Given the description of an element on the screen output the (x, y) to click on. 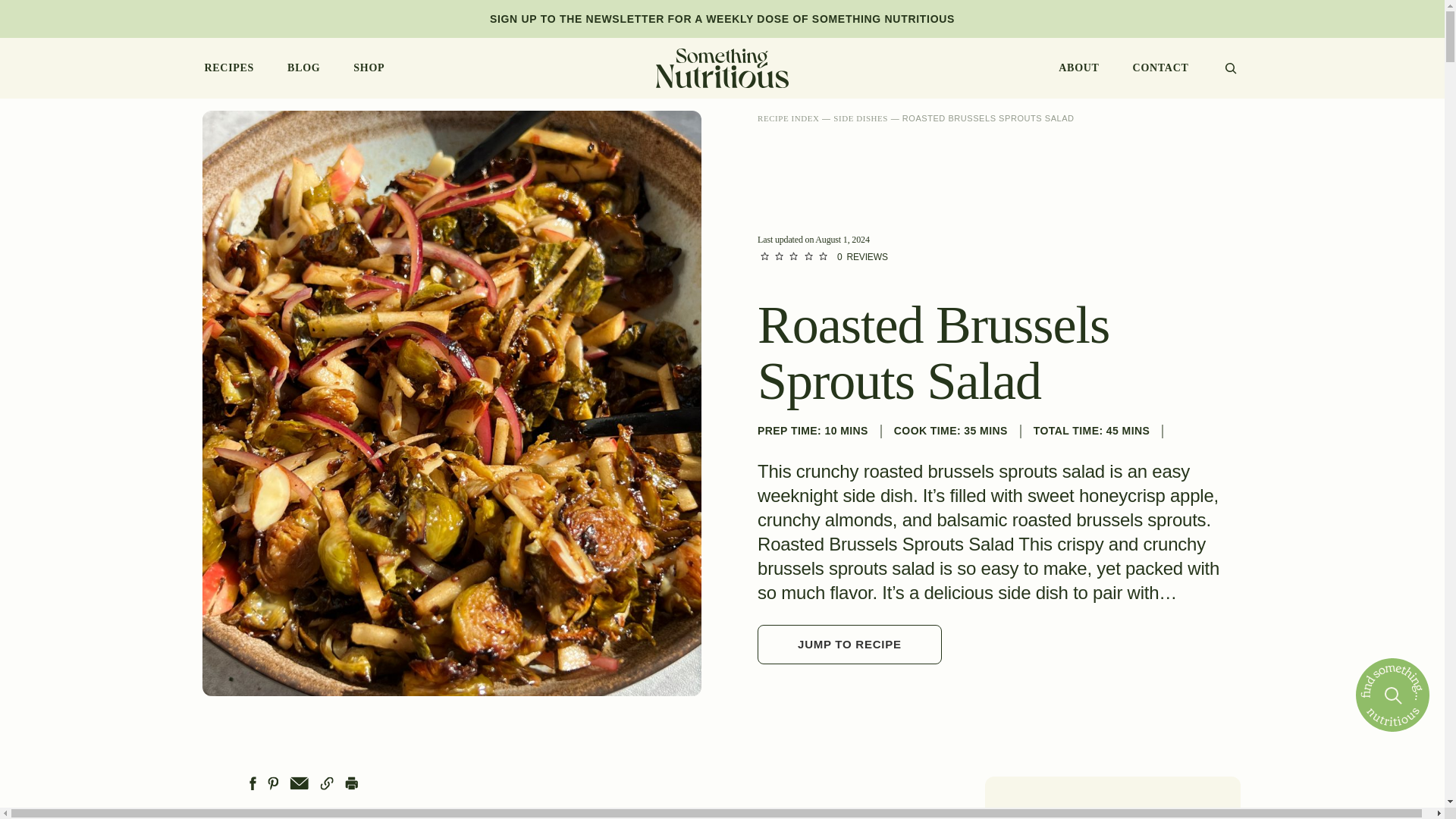
JUMP TO RECIPE (849, 644)
SIDE DISHES (860, 117)
ABOUT (1078, 68)
CONTACT (1160, 68)
BLOG (303, 68)
SHOP (368, 68)
RECIPE INDEX (787, 117)
RECIPES (229, 68)
